Given the description of an element on the screen output the (x, y) to click on. 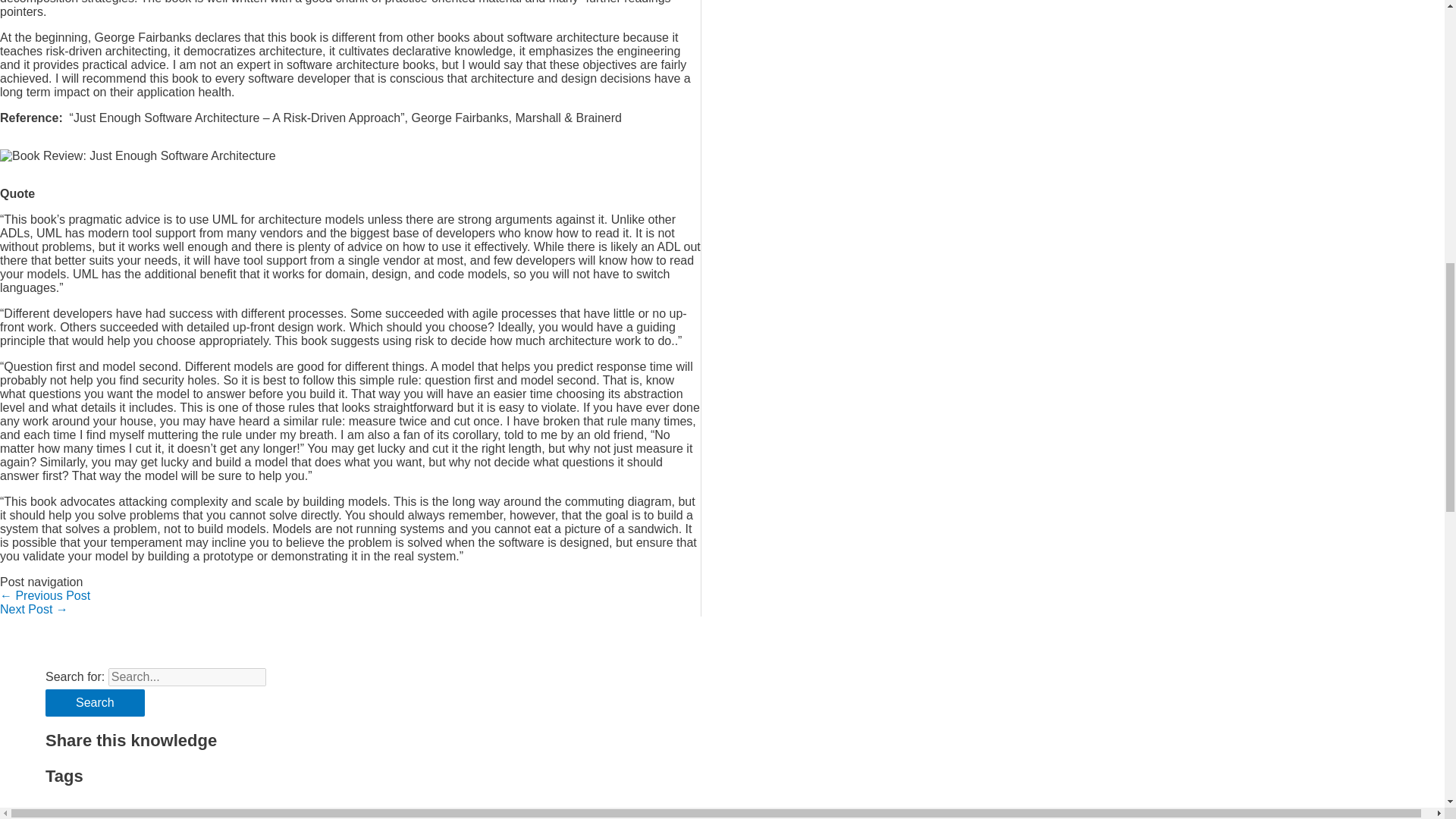
class diagram (187, 812)
Search (94, 702)
agile (148, 813)
Search (94, 702)
A Contrarian View of Software Architecture (45, 594)
Search (94, 702)
aspect oriented modeling (231, 813)
activity diagram (88, 813)
